Given the description of an element on the screen output the (x, y) to click on. 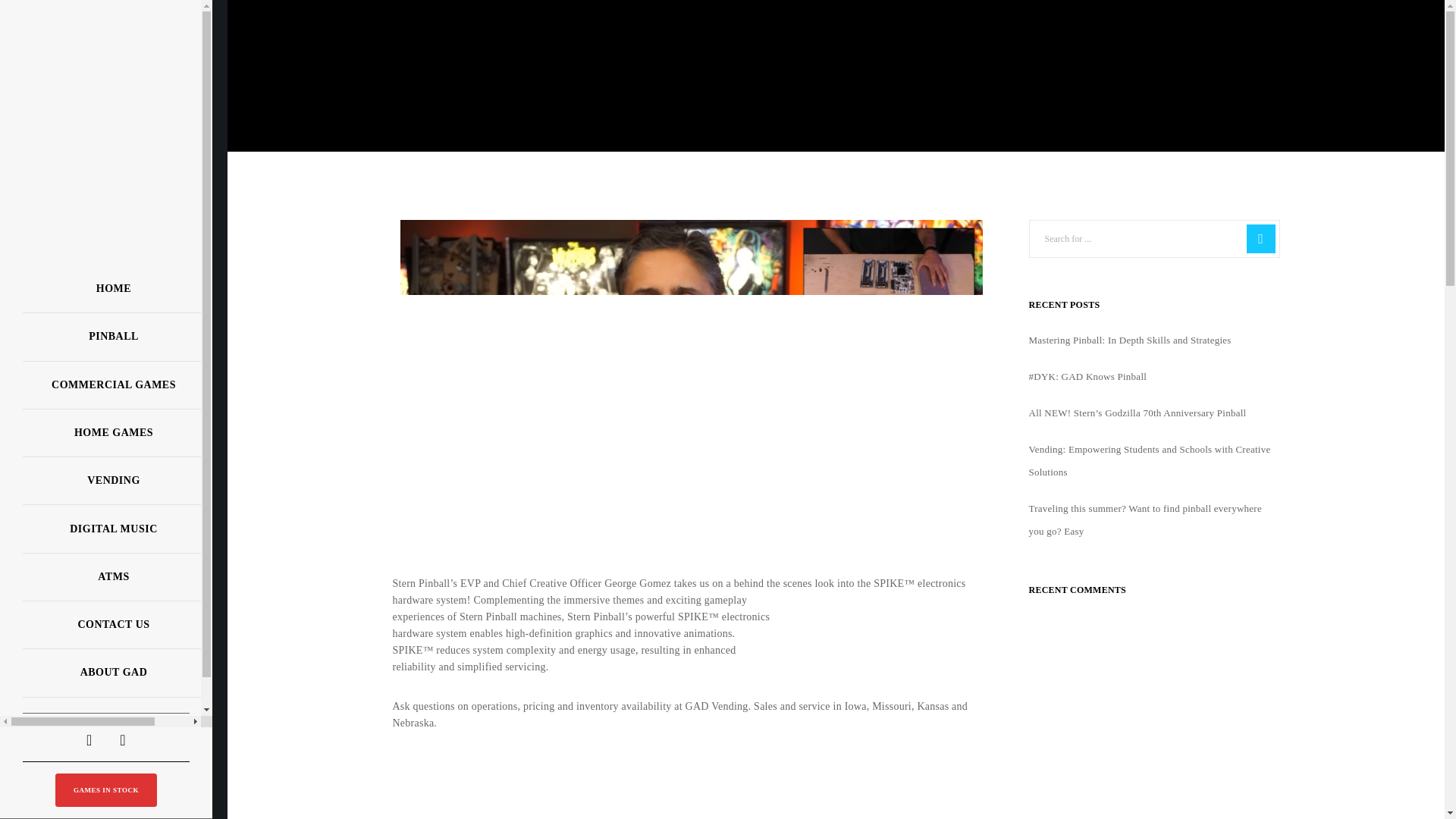
NEWS (114, 721)
ATMS (114, 577)
COMMERCIAL GAMES (114, 385)
CONTACT US (114, 625)
HOME GAMES (114, 433)
Mastering Pinball: In Depth Skills and Strategies (1128, 339)
HOME (114, 288)
GAMES IN STOCK (106, 789)
